Given the description of an element on the screen output the (x, y) to click on. 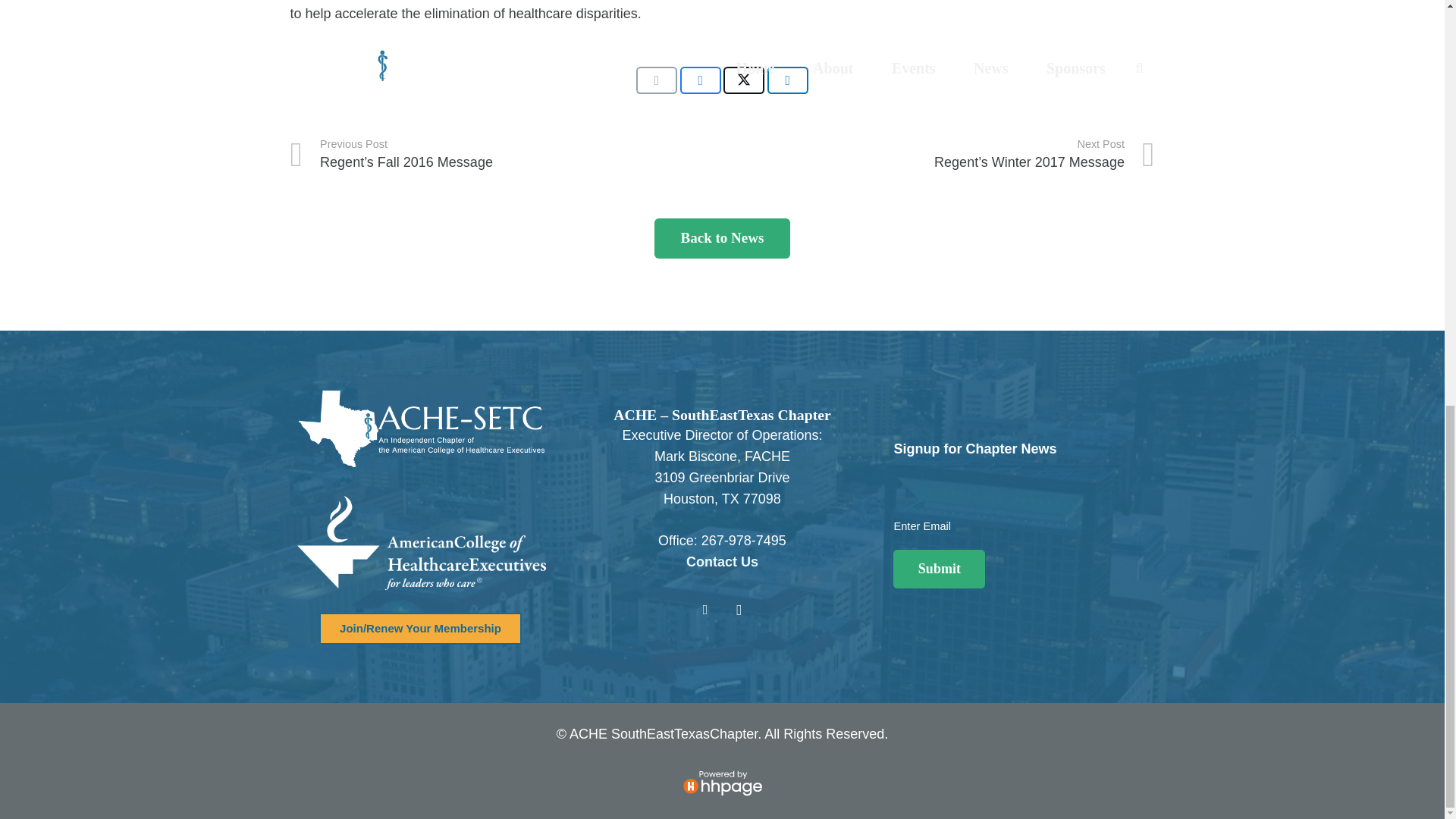
LinkedIn (704, 609)
Back to News (721, 238)
Share this (699, 80)
Instagram (738, 609)
Tweet this (743, 80)
Share this (787, 80)
ACHE News (721, 238)
Submit (939, 568)
Back to top (1413, 40)
Email this (656, 80)
